Given the description of an element on the screen output the (x, y) to click on. 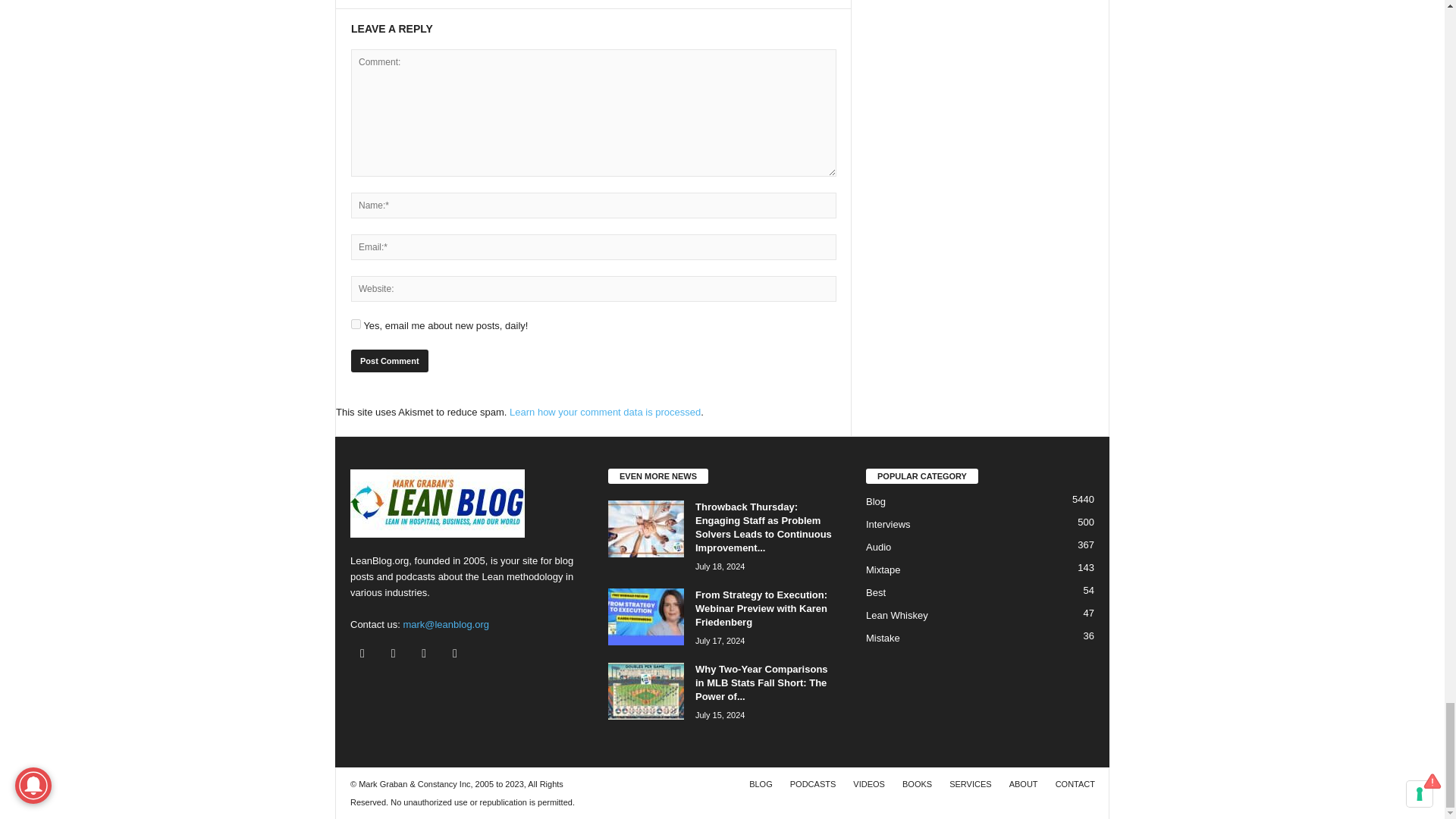
Post Comment (389, 360)
1 (355, 324)
